Given the description of an element on the screen output the (x, y) to click on. 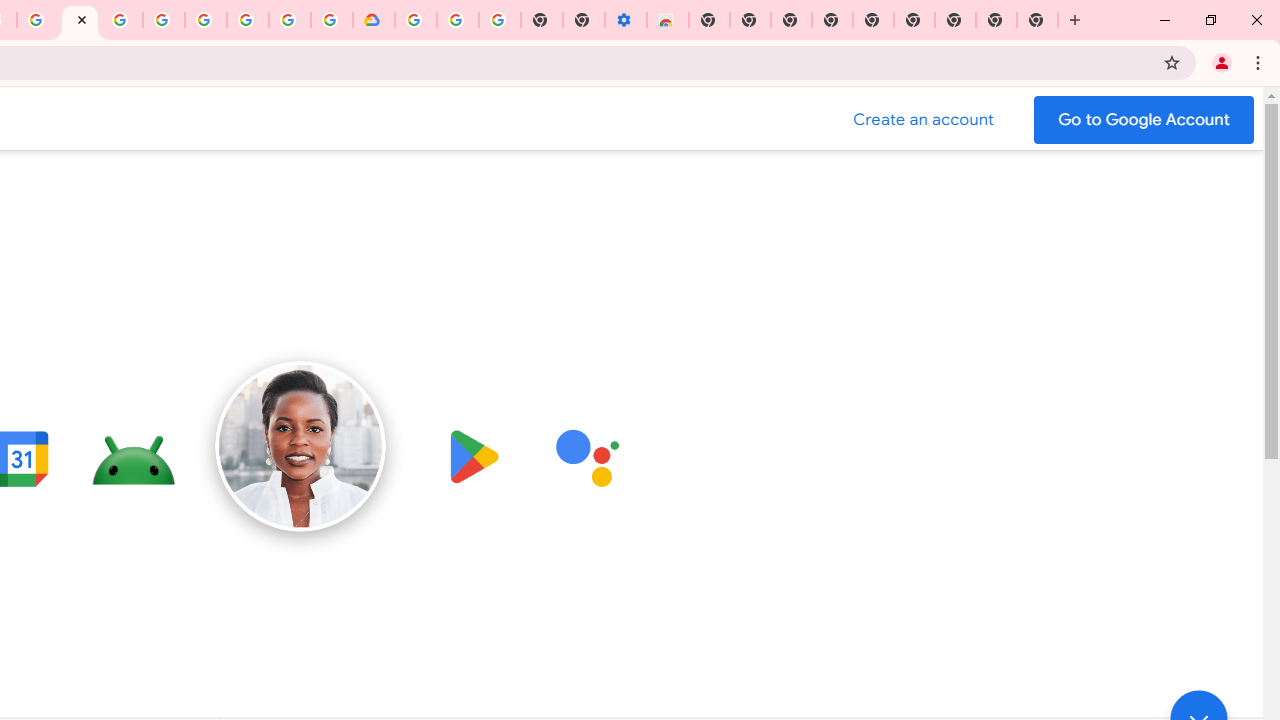
Browse the Google Chrome Community - Google Chrome Community (332, 20)
Google Account Help (205, 20)
Ad Settings (122, 20)
Create a Google Account (923, 119)
New Tab (708, 20)
Sign in - Google Accounts (164, 20)
New Tab (955, 20)
Go to your Google Account (1144, 119)
